Given the description of an element on the screen output the (x, y) to click on. 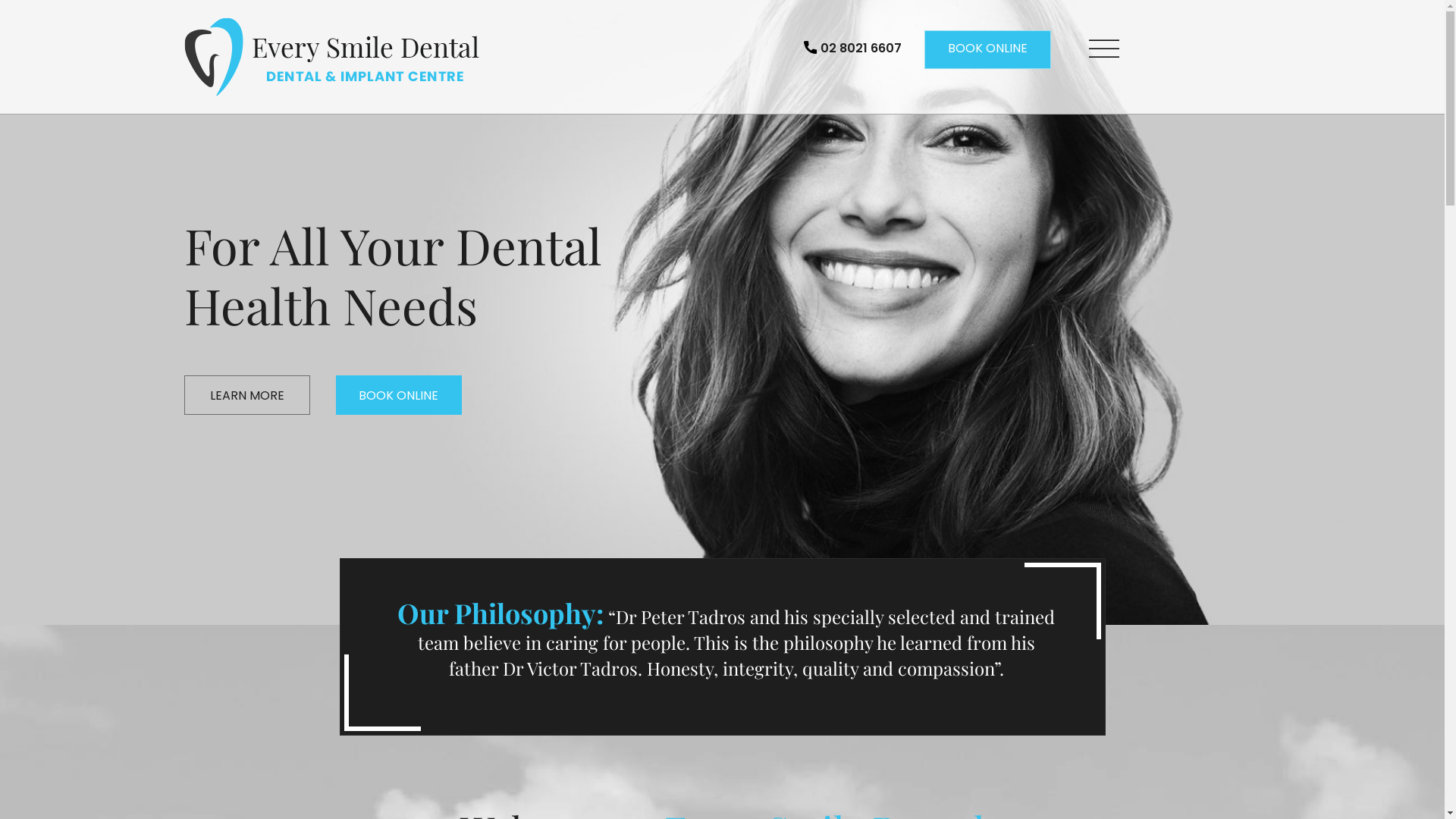
02 8021 6607 Element type: text (852, 50)
LEARN MORE Element type: text (246, 394)
BOOK ONLINE Element type: text (398, 394)
BOOK ONLINE Element type: text (986, 49)
